Given the description of an element on the screen output the (x, y) to click on. 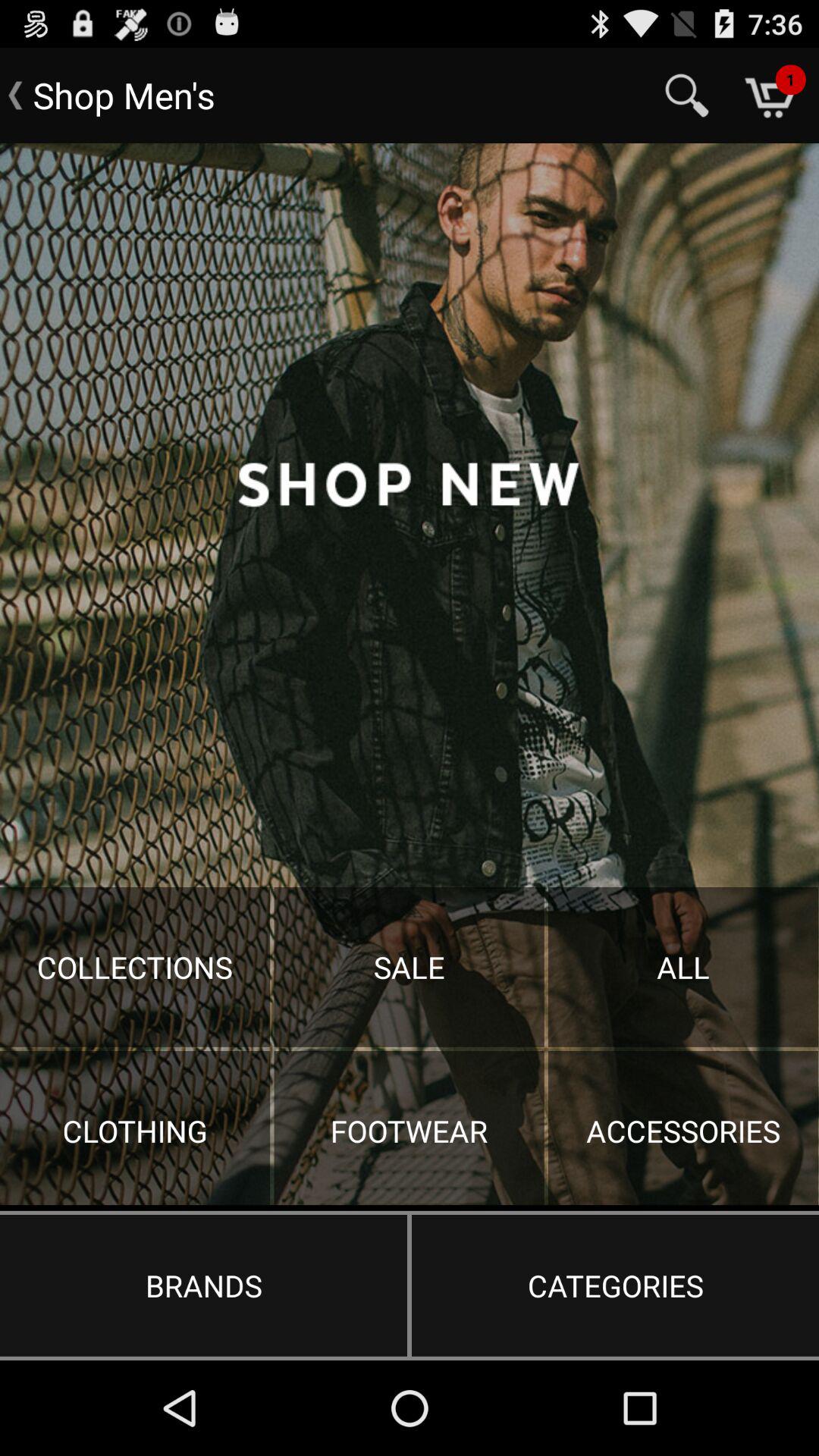
turn off categories icon (615, 1285)
